Given the description of an element on the screen output the (x, y) to click on. 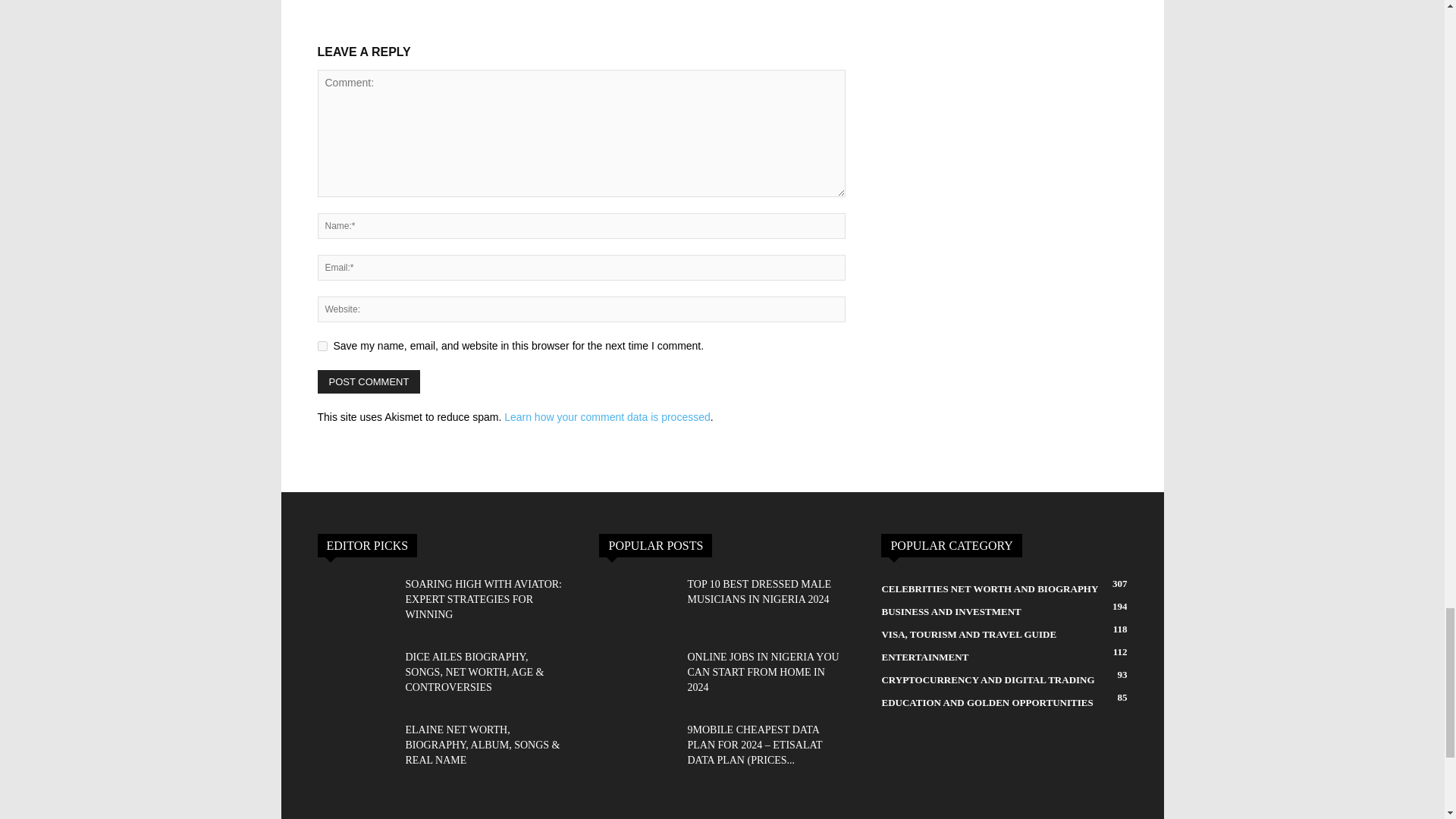
Post Comment (368, 381)
yes (321, 346)
